Given the description of an element on the screen output the (x, y) to click on. 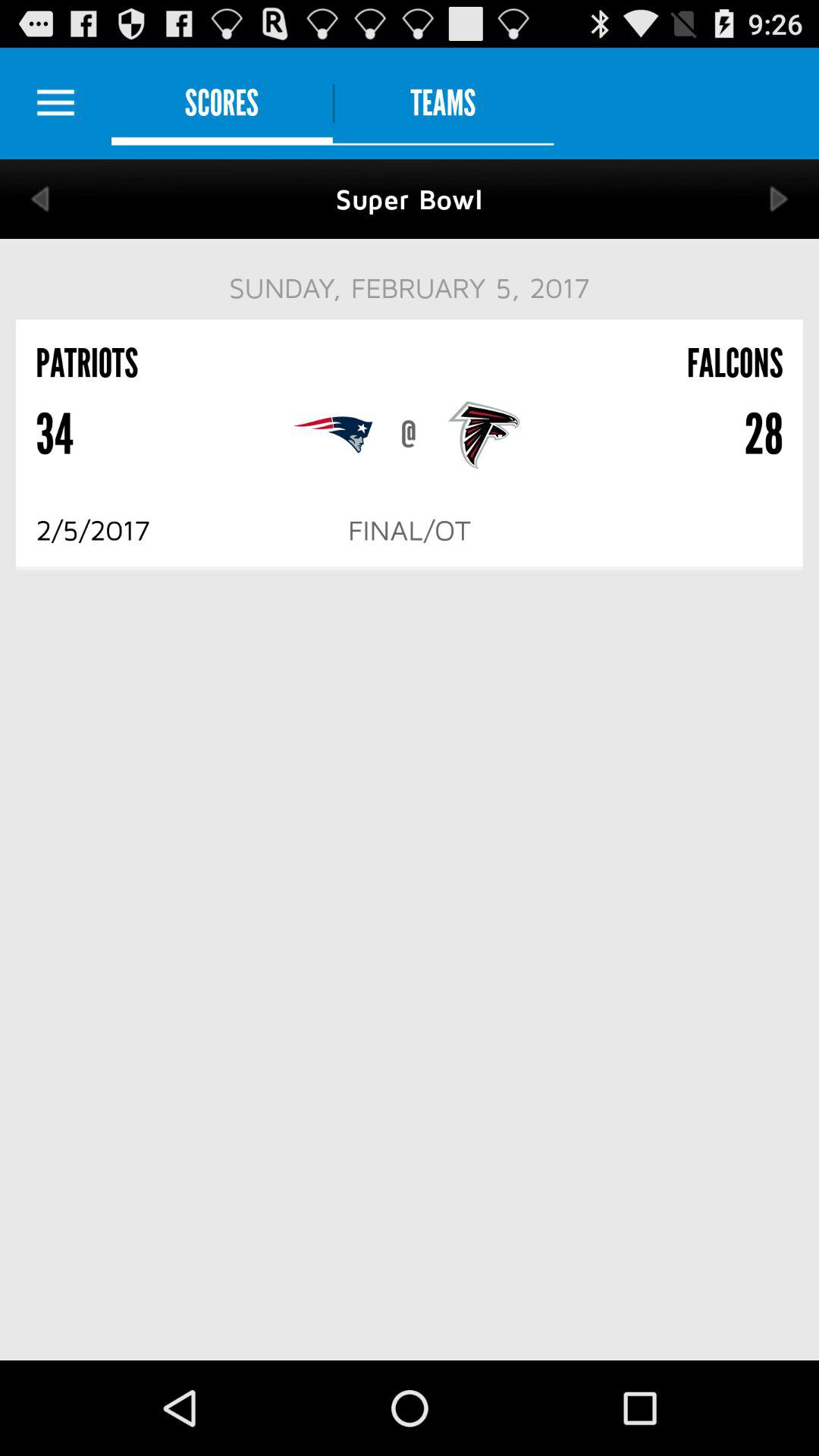
toggle menu option (55, 103)
